Given the description of an element on the screen output the (x, y) to click on. 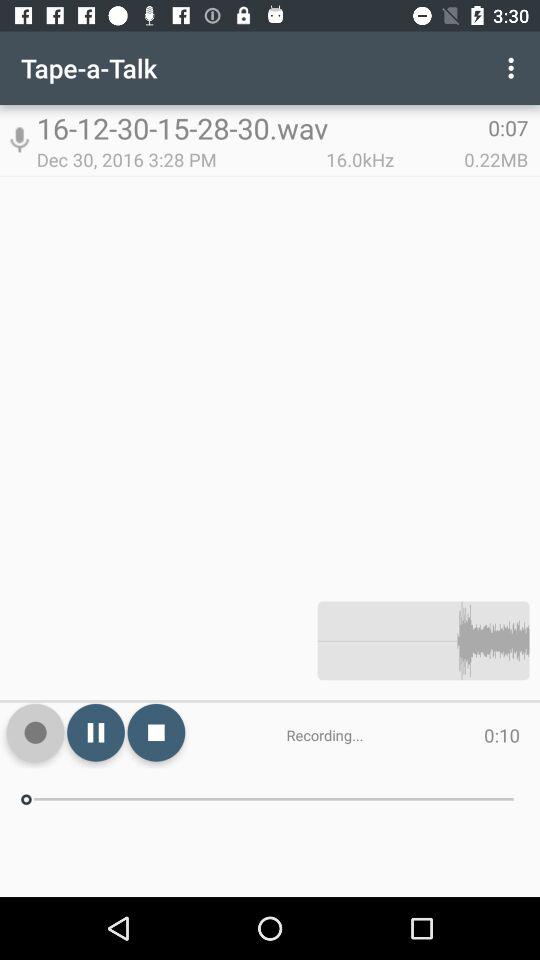
select the mike icon (20, 140)
